Given the description of an element on the screen output the (x, y) to click on. 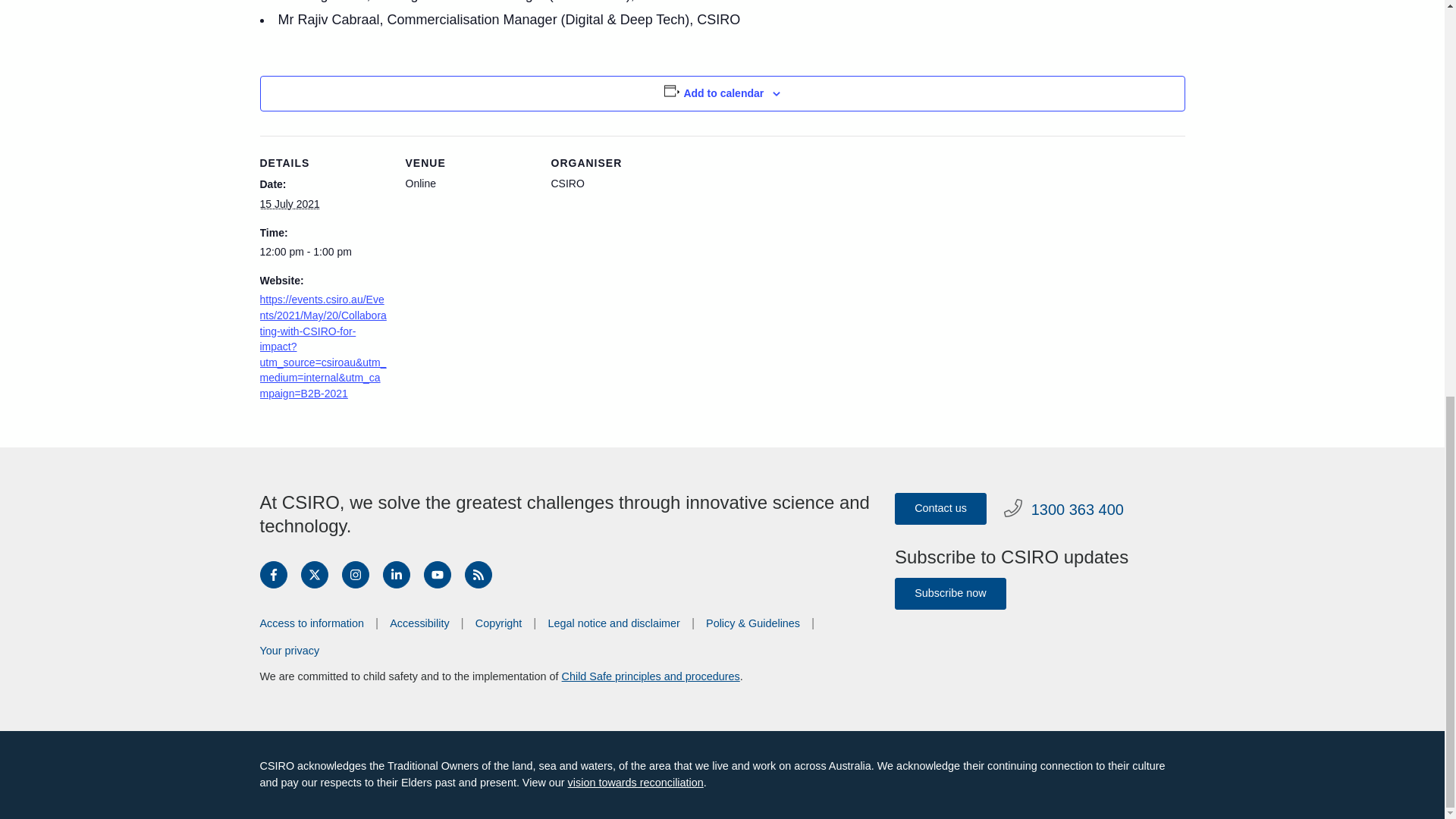
2021-07-15 (323, 252)
2021-07-15 (288, 203)
